Given the description of an element on the screen output the (x, y) to click on. 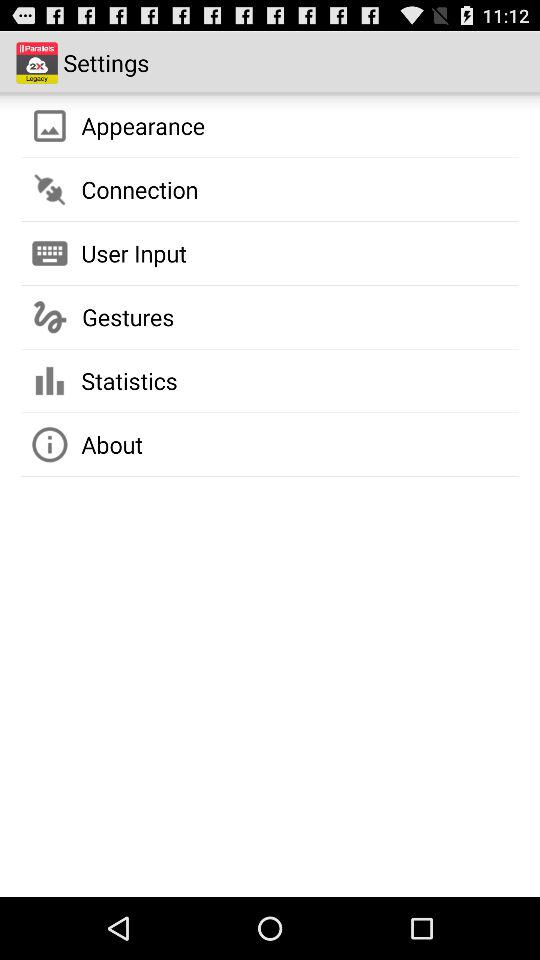
select the image icon beside appearance (49, 125)
click on icon left to gestures (50, 316)
select the icon next to statistics (49, 381)
